Given the description of an element on the screen output the (x, y) to click on. 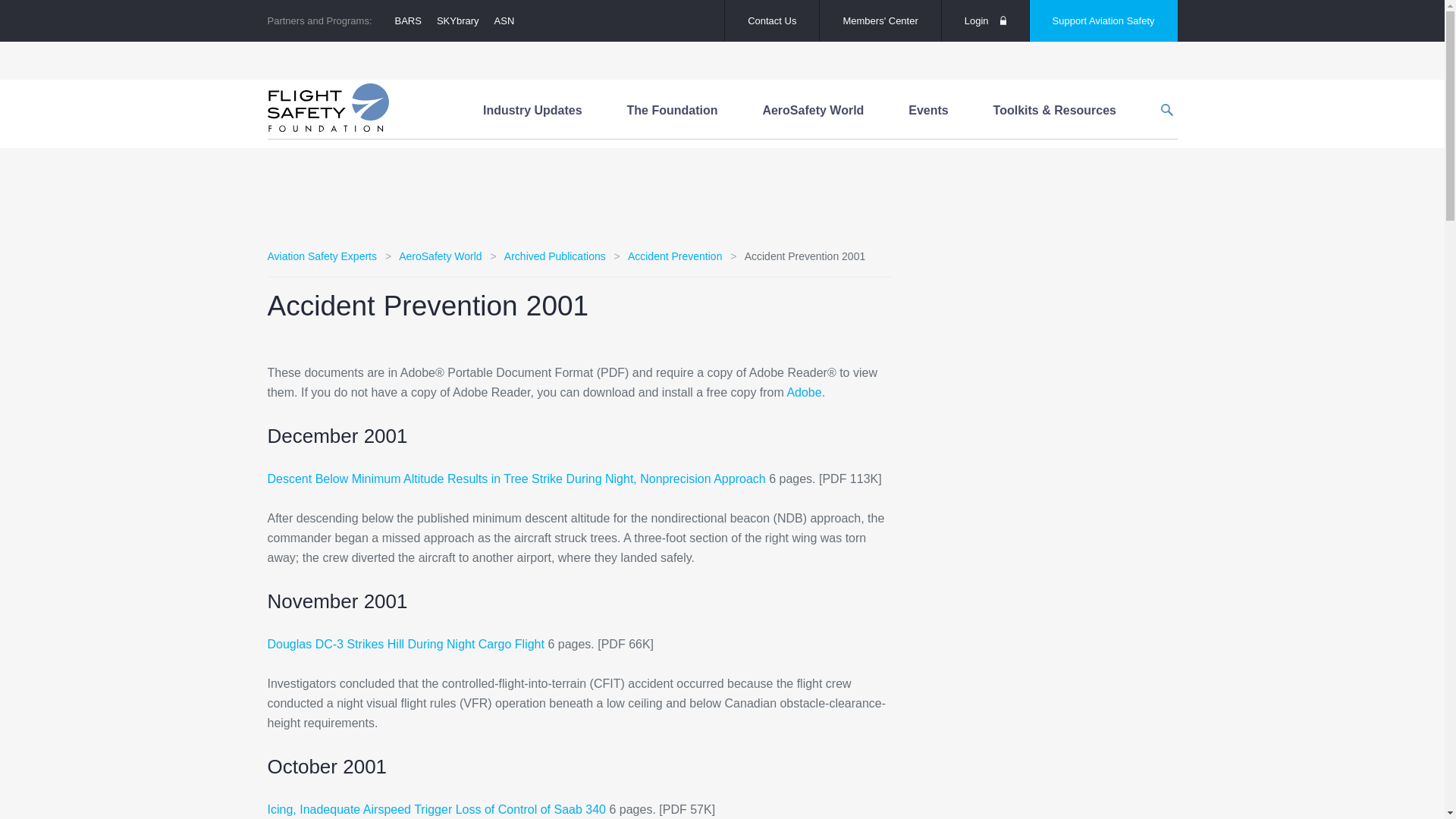
AeroSafety World (812, 110)
Members' Center (879, 20)
BARS (408, 20)
The Foundation (672, 110)
Events (928, 110)
ASN (504, 20)
Support Aviation Safety (1103, 20)
Contact Us (771, 20)
SKYbrary (457, 20)
Industry Updates (532, 110)
Login (985, 20)
